Given the description of an element on the screen output the (x, y) to click on. 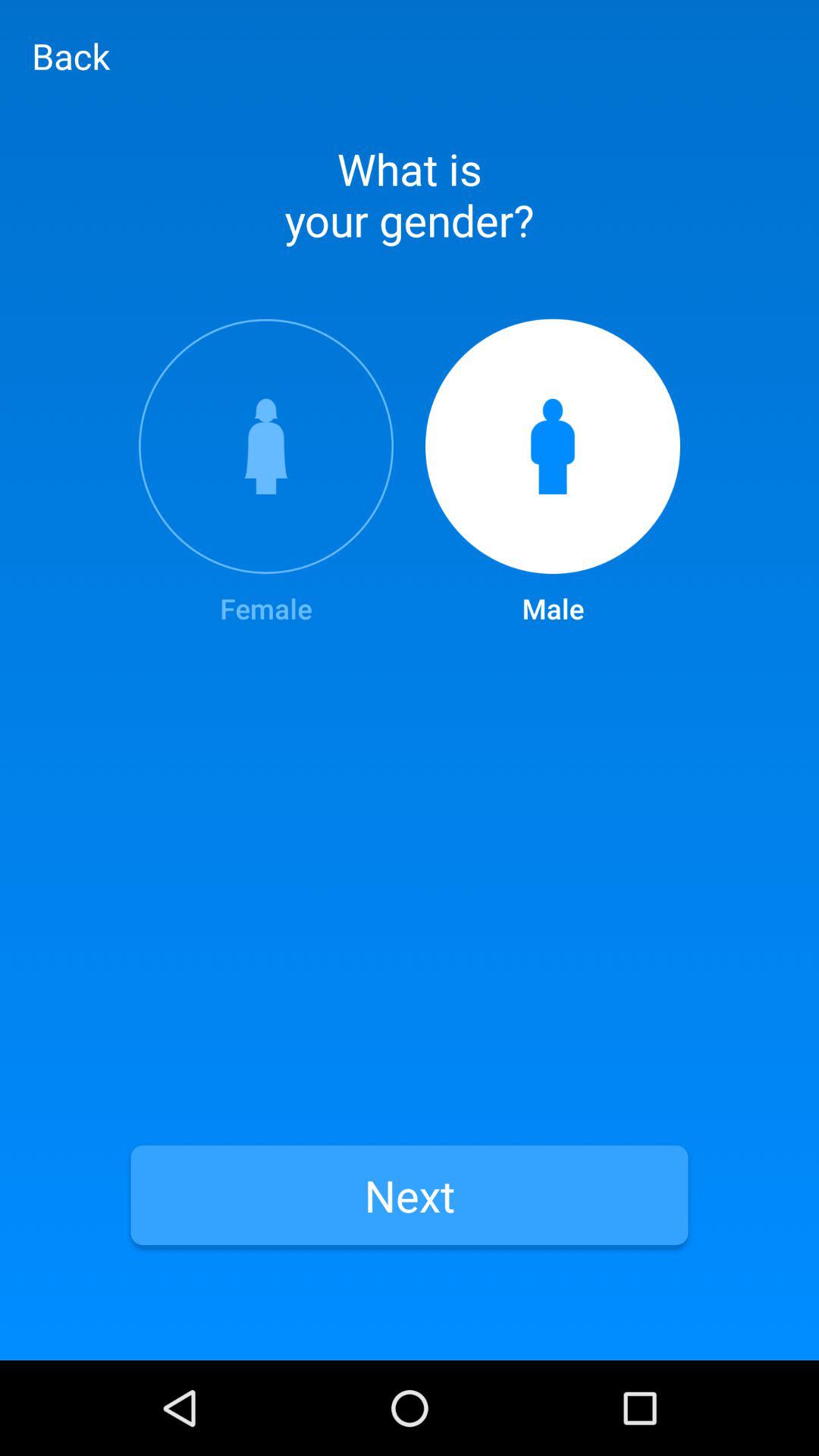
jump until the back item (70, 55)
